Given the description of an element on the screen output the (x, y) to click on. 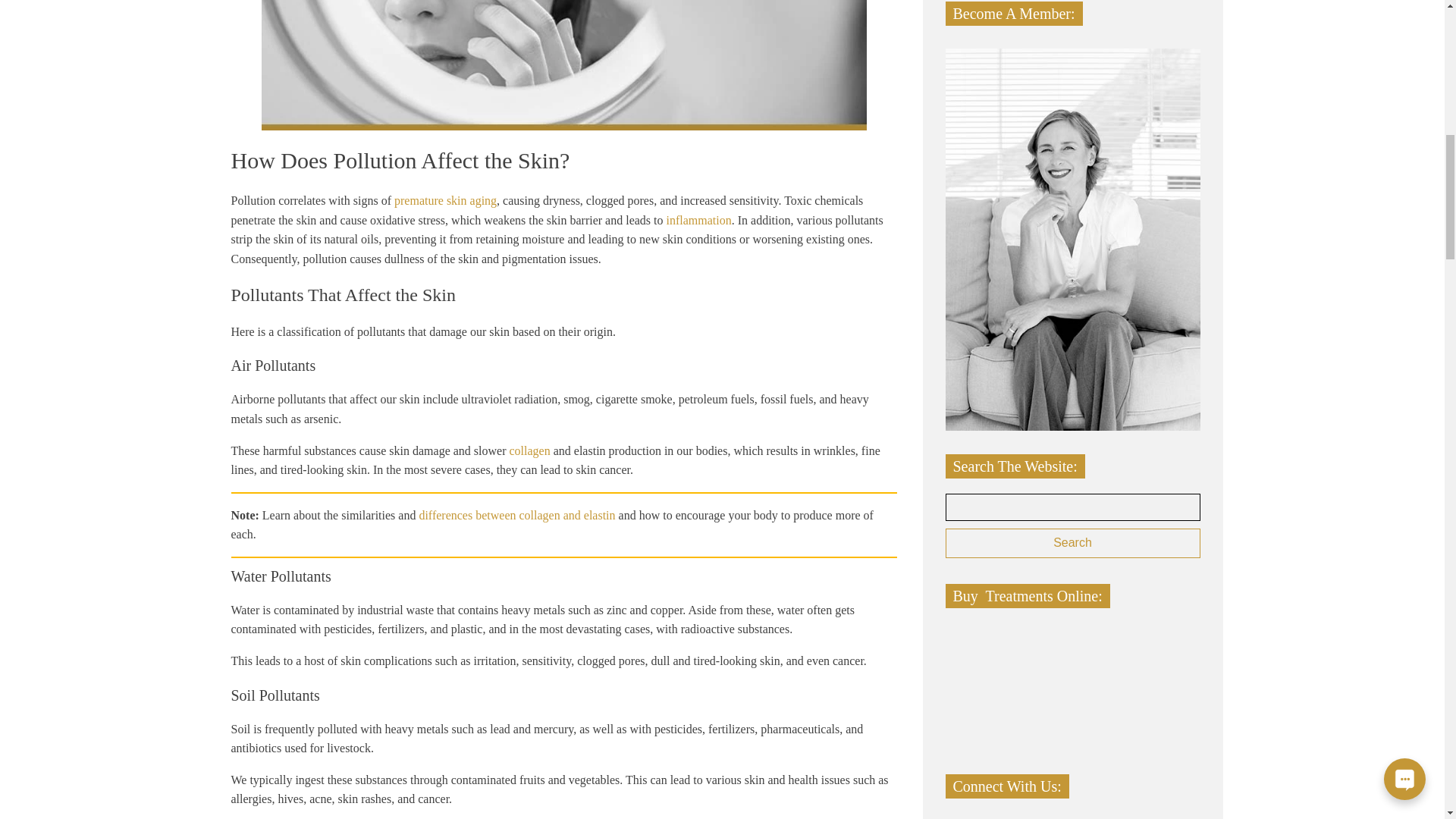
Search (1071, 542)
differences between collagen and elastin (516, 514)
collagen (529, 450)
premature skin aging (445, 200)
inflammation (699, 219)
